Given the description of an element on the screen output the (x, y) to click on. 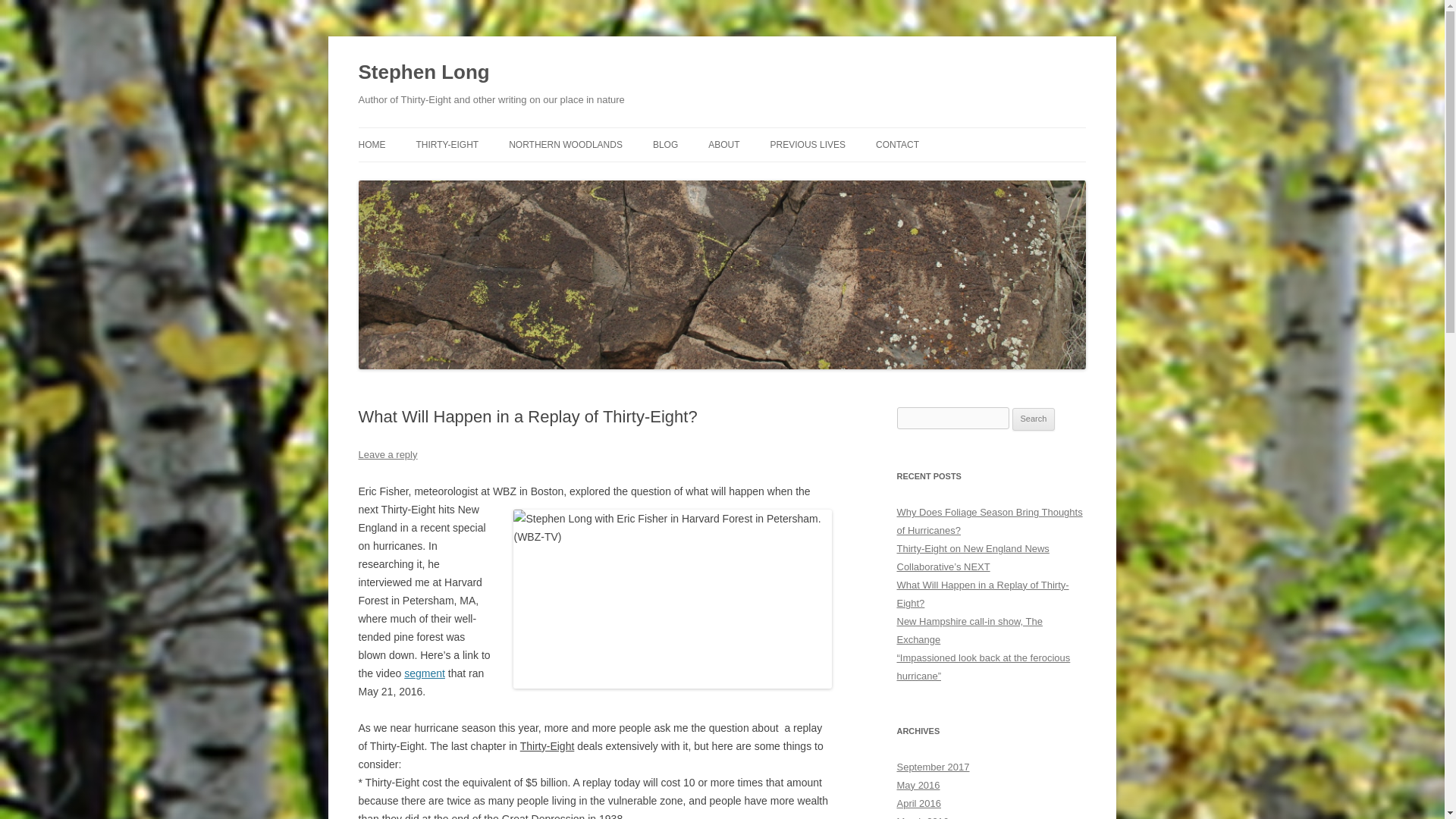
NORTHERN WOODLANDS (565, 144)
September 2017 (932, 767)
Why Does Foliage Season Bring Thoughts of Hurricanes? (988, 521)
THIRTY-EIGHT (446, 144)
Search (1033, 418)
What Will Happen in a Replay of Thirty-Eight? (982, 594)
March 2016 (922, 817)
May 2016 (917, 785)
ABOUT (723, 144)
